Given the description of an element on the screen output the (x, y) to click on. 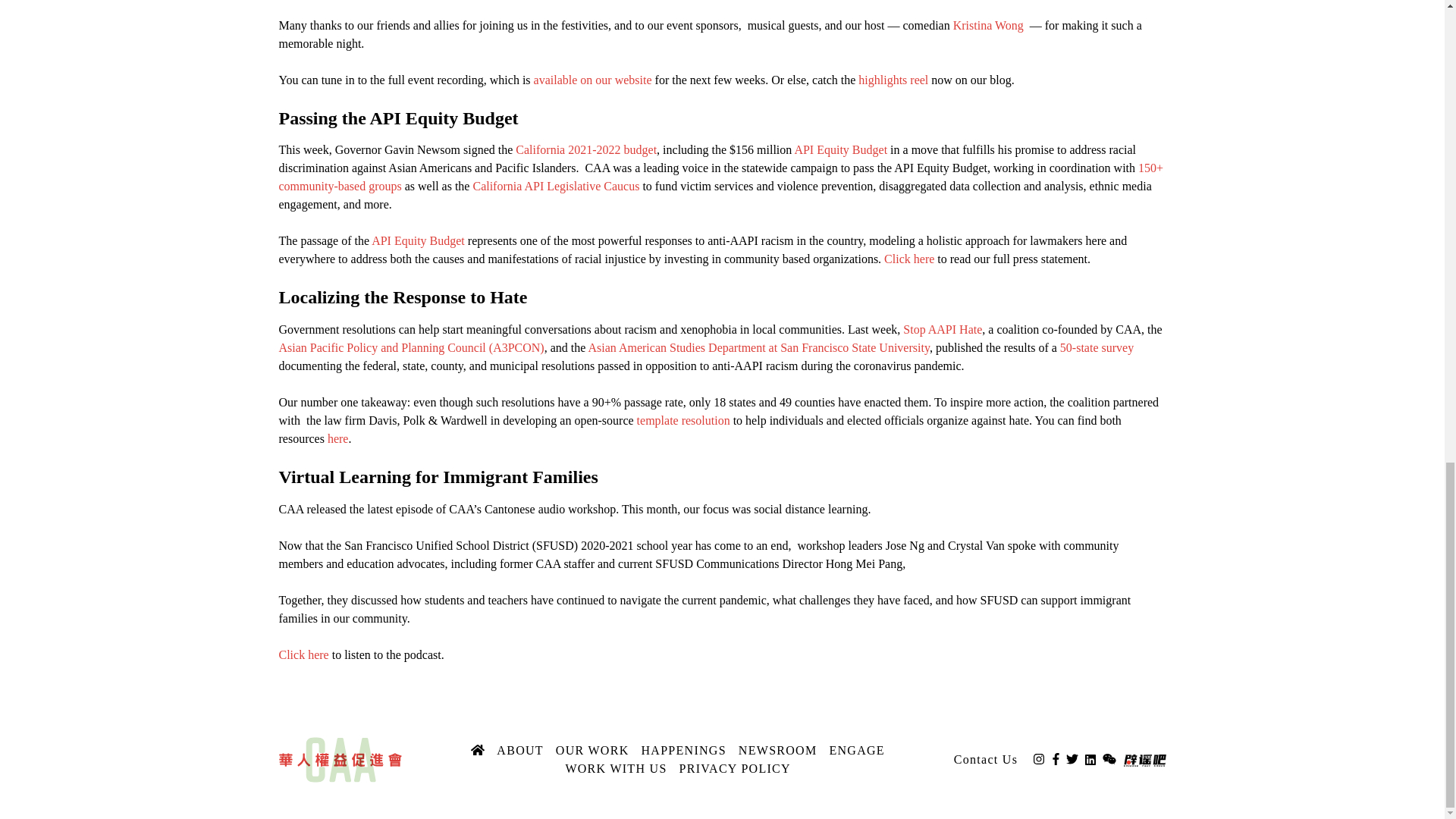
CAA (341, 758)
